Given the description of an element on the screen output the (x, y) to click on. 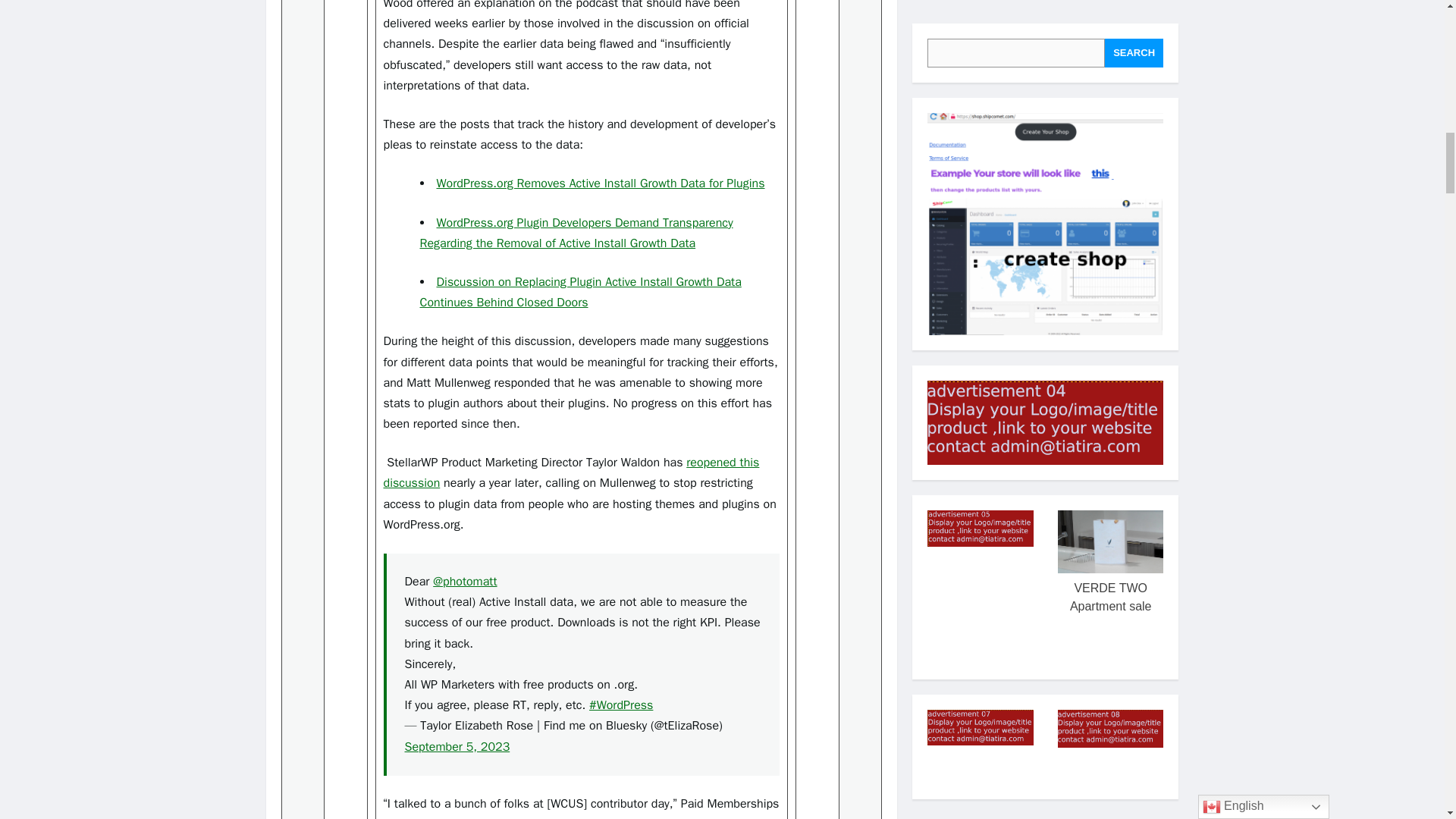
reopened this discussion (572, 472)
September 5, 2023 (457, 746)
WordPress.org Removes Active Install Growth Data for Plugins (600, 183)
